Given the description of an element on the screen output the (x, y) to click on. 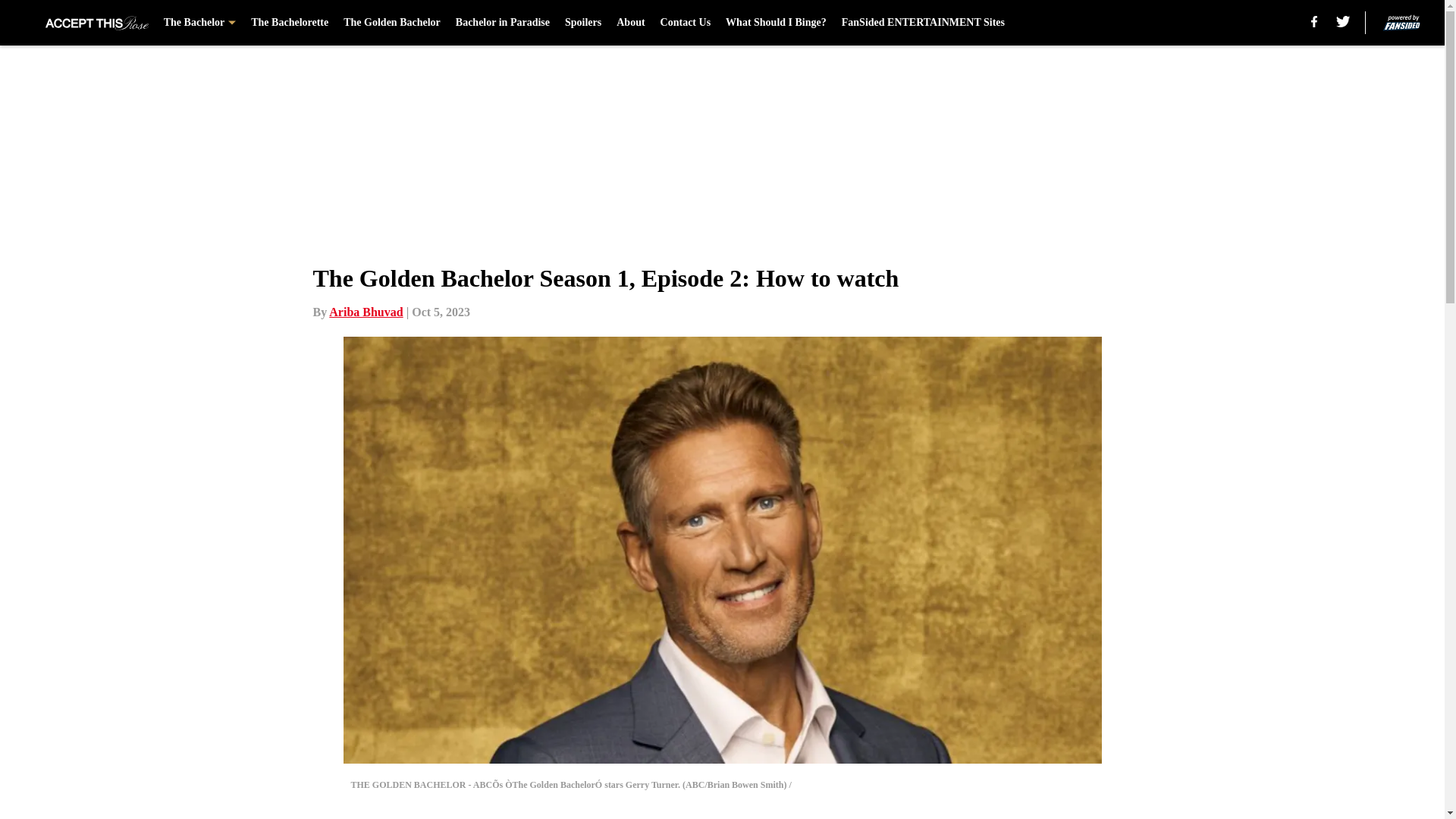
What Should I Binge? (776, 22)
About (630, 22)
Contact Us (686, 22)
Spoilers (582, 22)
Ariba Bhuvad (366, 311)
The Bachelorette (289, 22)
FanSided ENTERTAINMENT Sites (922, 22)
Bachelor in Paradise (502, 22)
The Golden Bachelor (392, 22)
